Given the description of an element on the screen output the (x, y) to click on. 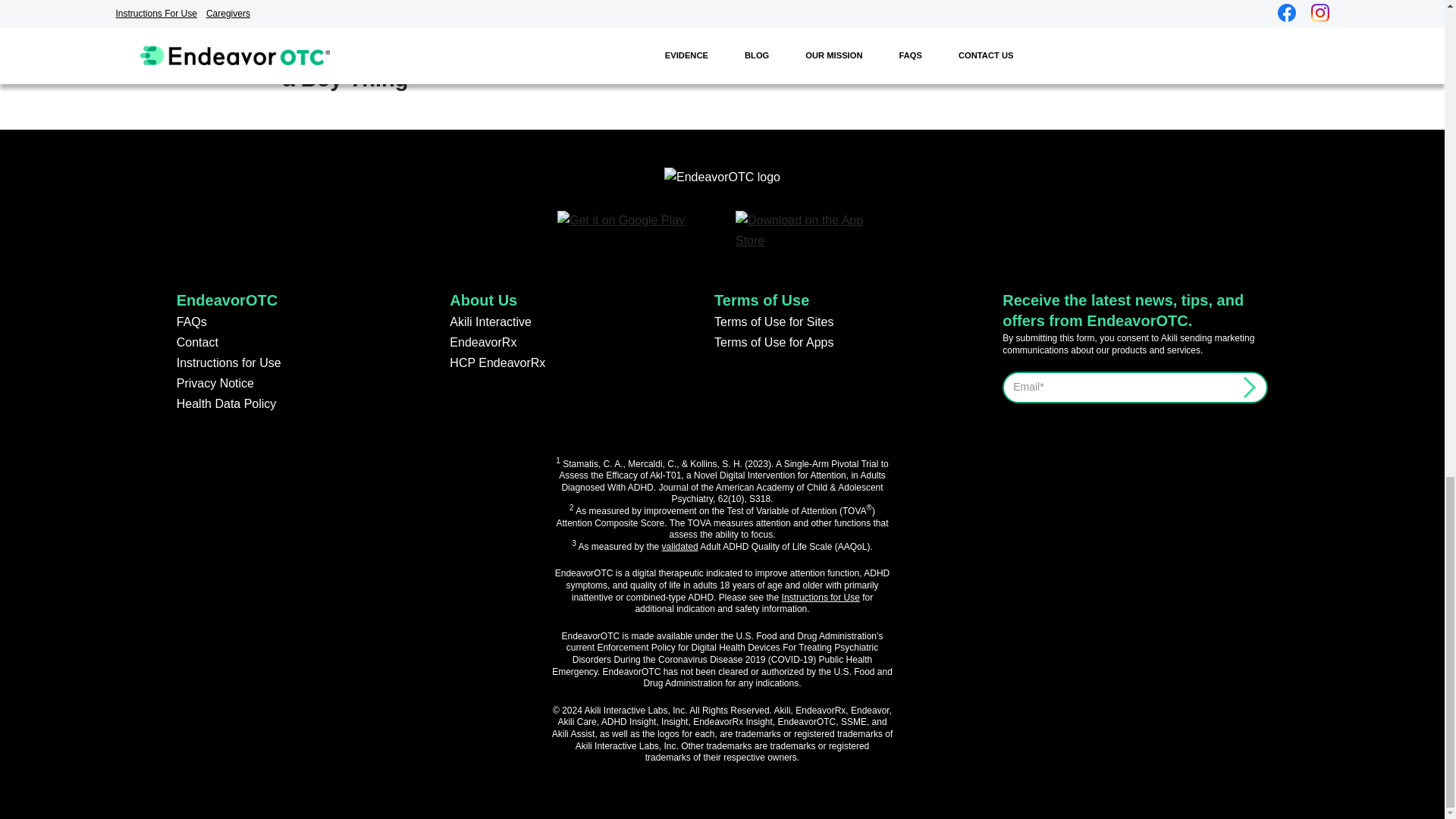
FAQs (191, 321)
Submit (1241, 384)
